Given the description of an element on the screen output the (x, y) to click on. 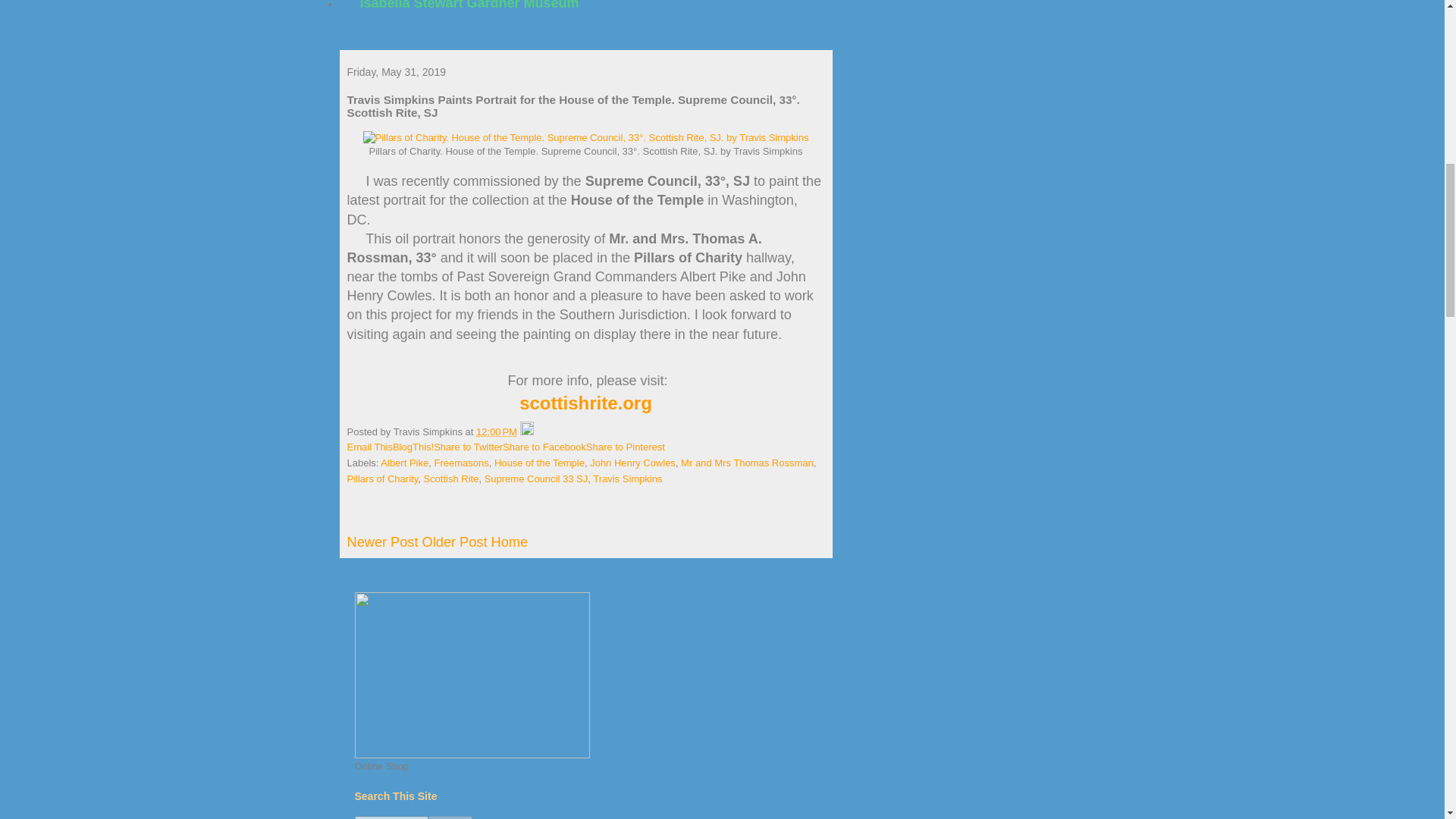
House of the Temple (540, 462)
Share to Twitter (467, 446)
Travis Simpkins (627, 478)
Isabella Stewart Gardner Museum (469, 12)
Pillars of Charity (383, 478)
Home (510, 541)
John Henry Cowles (632, 462)
Mr and Mrs Thomas Rossman (747, 462)
Search (449, 817)
Search (449, 817)
Freemasons (460, 462)
Older Post (454, 541)
scottishrite.org (585, 403)
Share to Pinterest (625, 446)
Newer Post (383, 541)
